Given the description of an element on the screen output the (x, y) to click on. 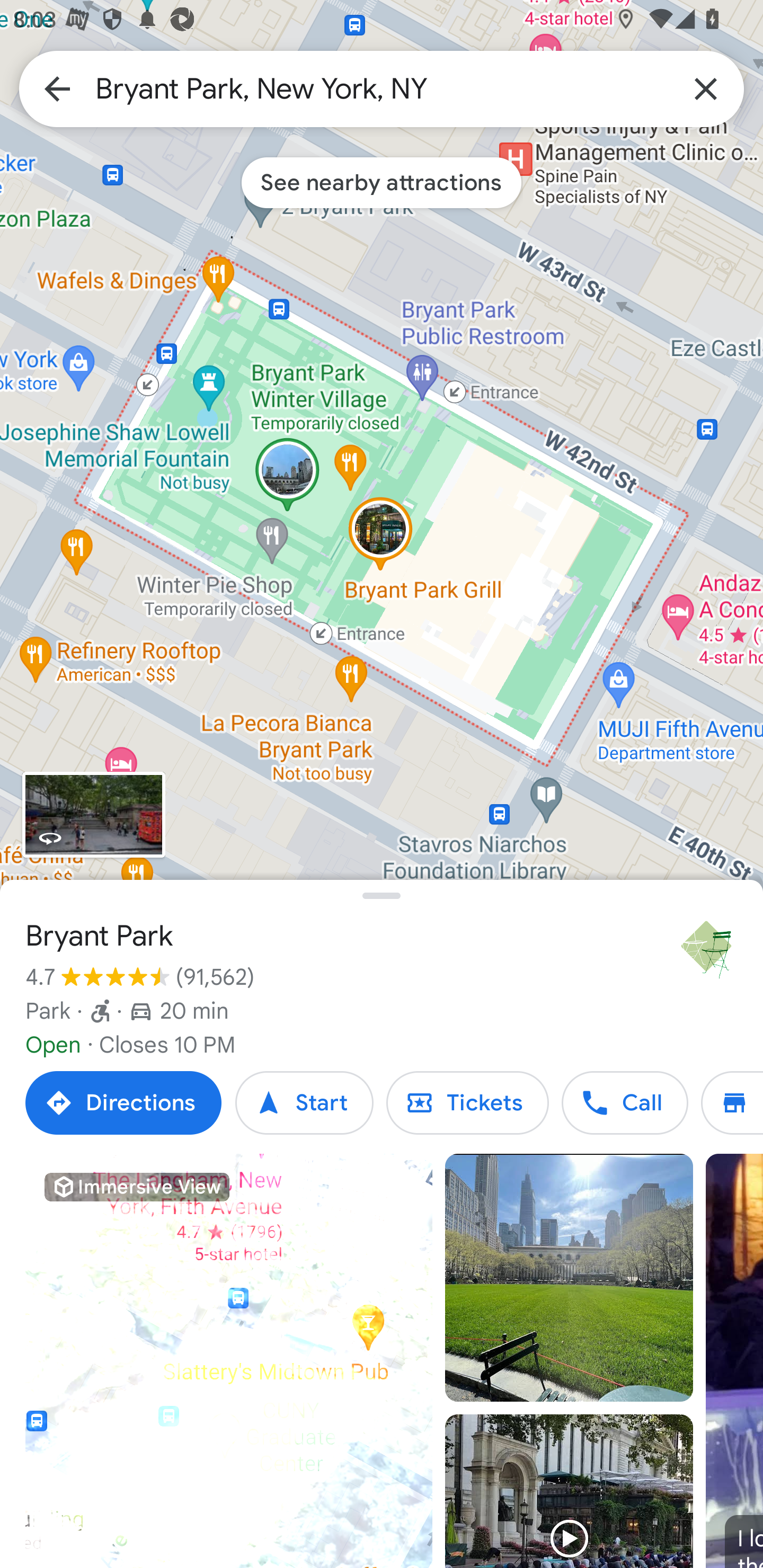
Back (57, 88)
Bryant Park, New York, NY (381, 88)
Clear (705, 88)
See nearby attractions (381, 182)
View Street view imagery for Bryant Park (93, 814)
Start Start Start (304, 1102)
Tickets (467, 1102)
Call Bryant Park Call Call Bryant Park (624, 1102)
Directory Directory Directory (732, 1102)
Video Immersive View (228, 1361)
Photo (568, 1277)
Video (568, 1491)
